Given the description of an element on the screen output the (x, y) to click on. 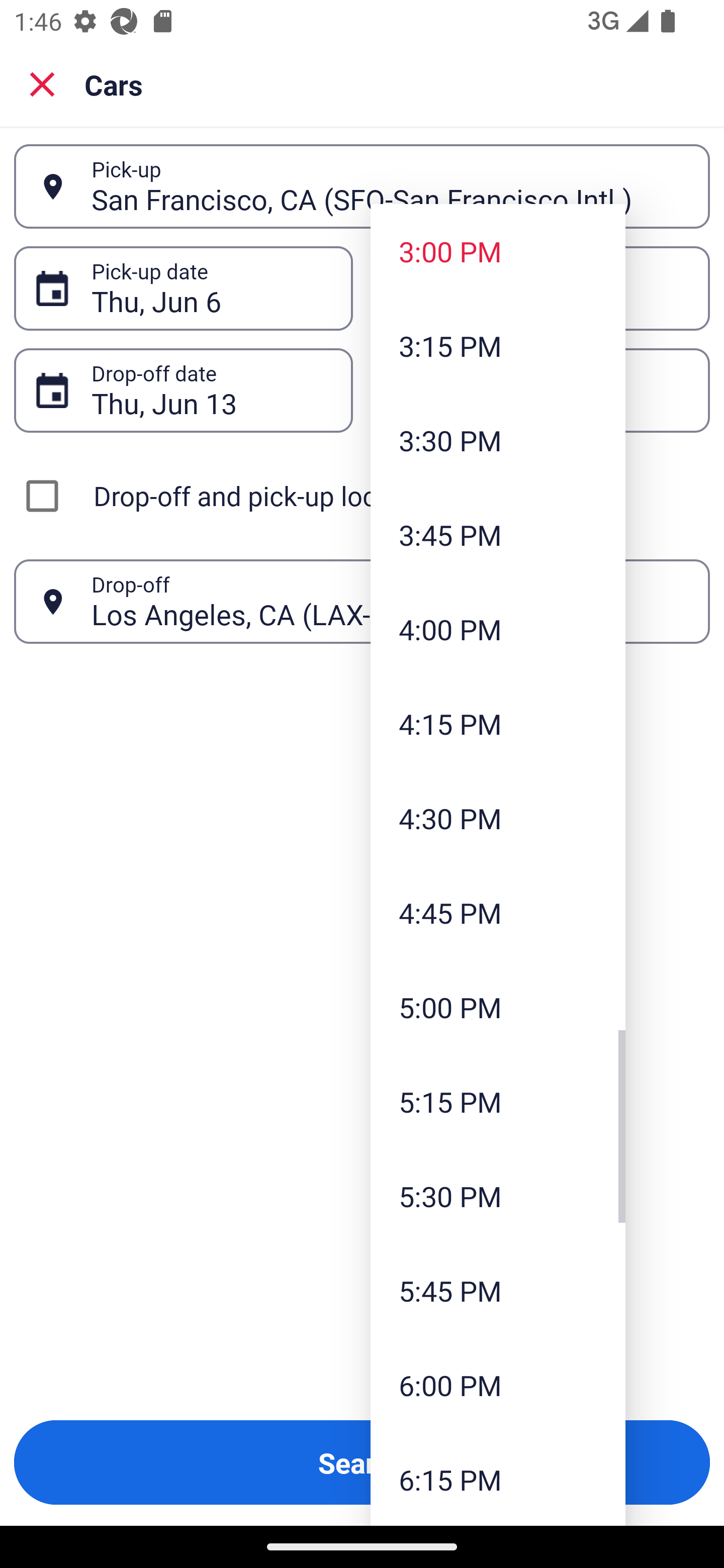
3:00 PM (497, 250)
3:15 PM (497, 345)
3:30 PM (497, 440)
3:45 PM (497, 534)
4:00 PM (497, 628)
4:15 PM (497, 723)
4:30 PM (497, 818)
4:45 PM (497, 912)
5:00 PM (497, 1006)
5:15 PM (497, 1101)
5:30 PM (497, 1196)
5:45 PM (497, 1290)
6:00 PM (497, 1384)
6:15 PM (497, 1478)
